Given the description of an element on the screen output the (x, y) to click on. 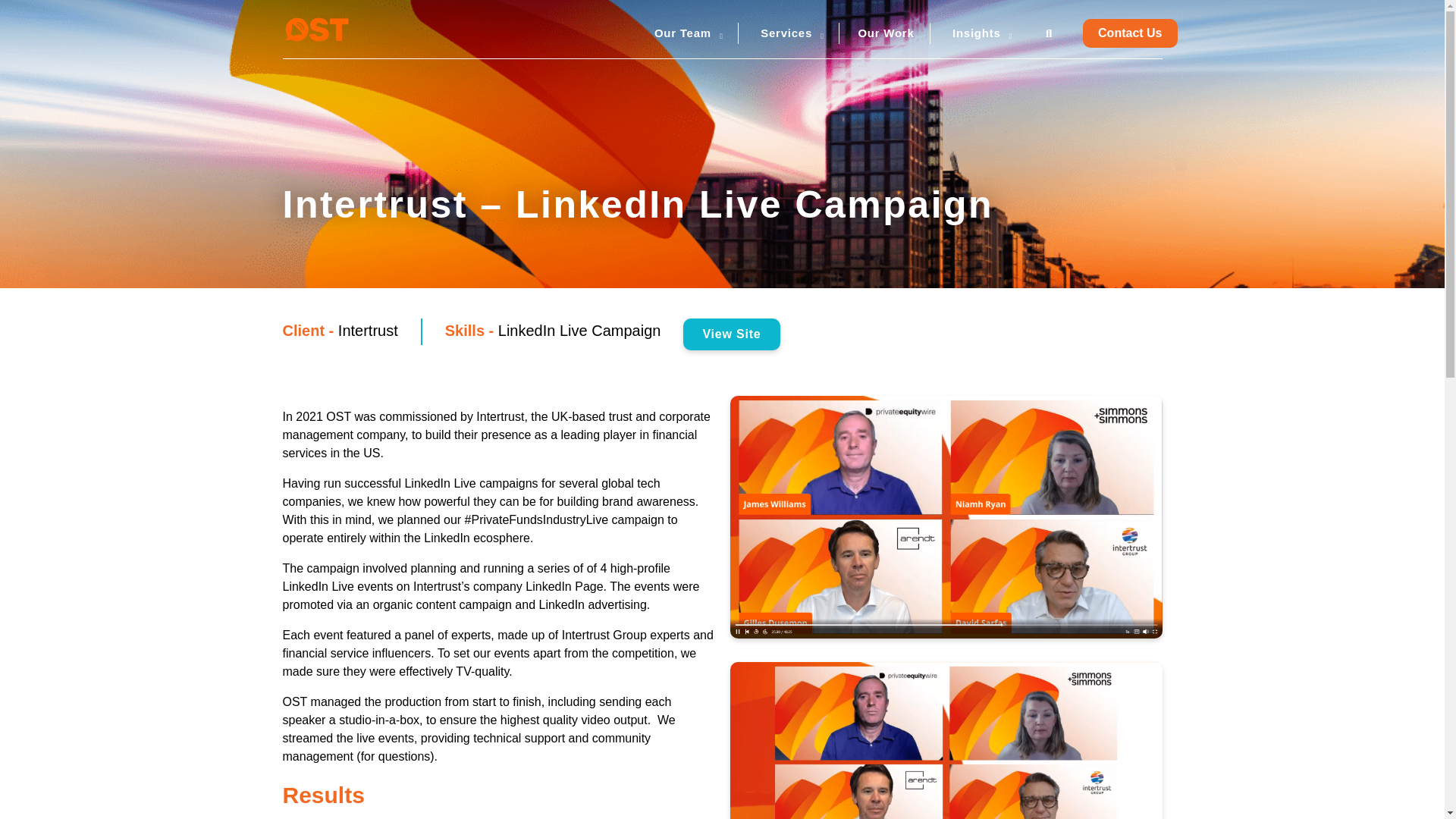
Our Team (682, 32)
Services (786, 32)
Contact Us (1129, 32)
View Site (730, 334)
Insights (976, 32)
Our Work (885, 32)
